Given the description of an element on the screen output the (x, y) to click on. 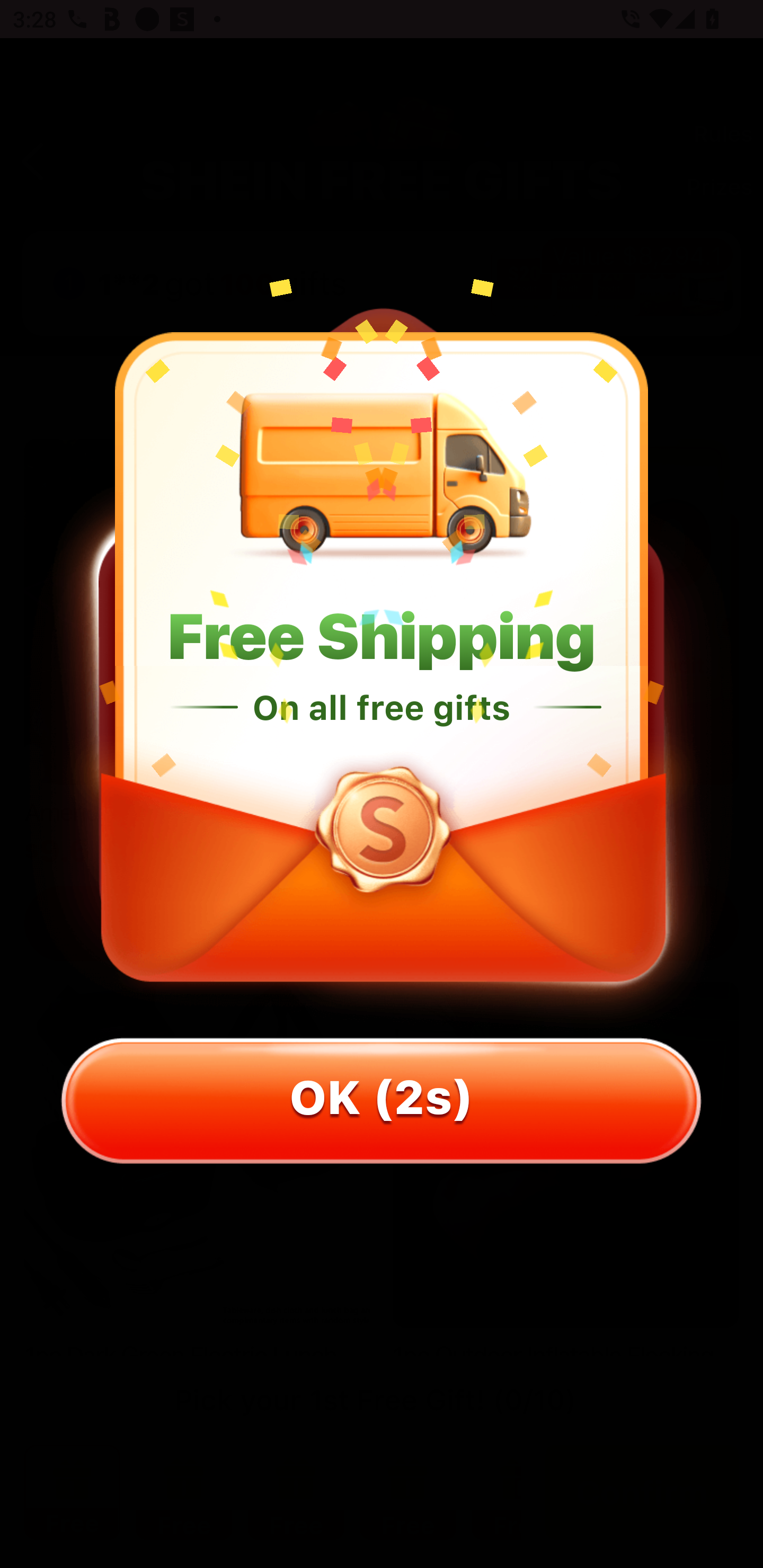
OK (3s) (381, 1113)
